Given the description of an element on the screen output the (x, y) to click on. 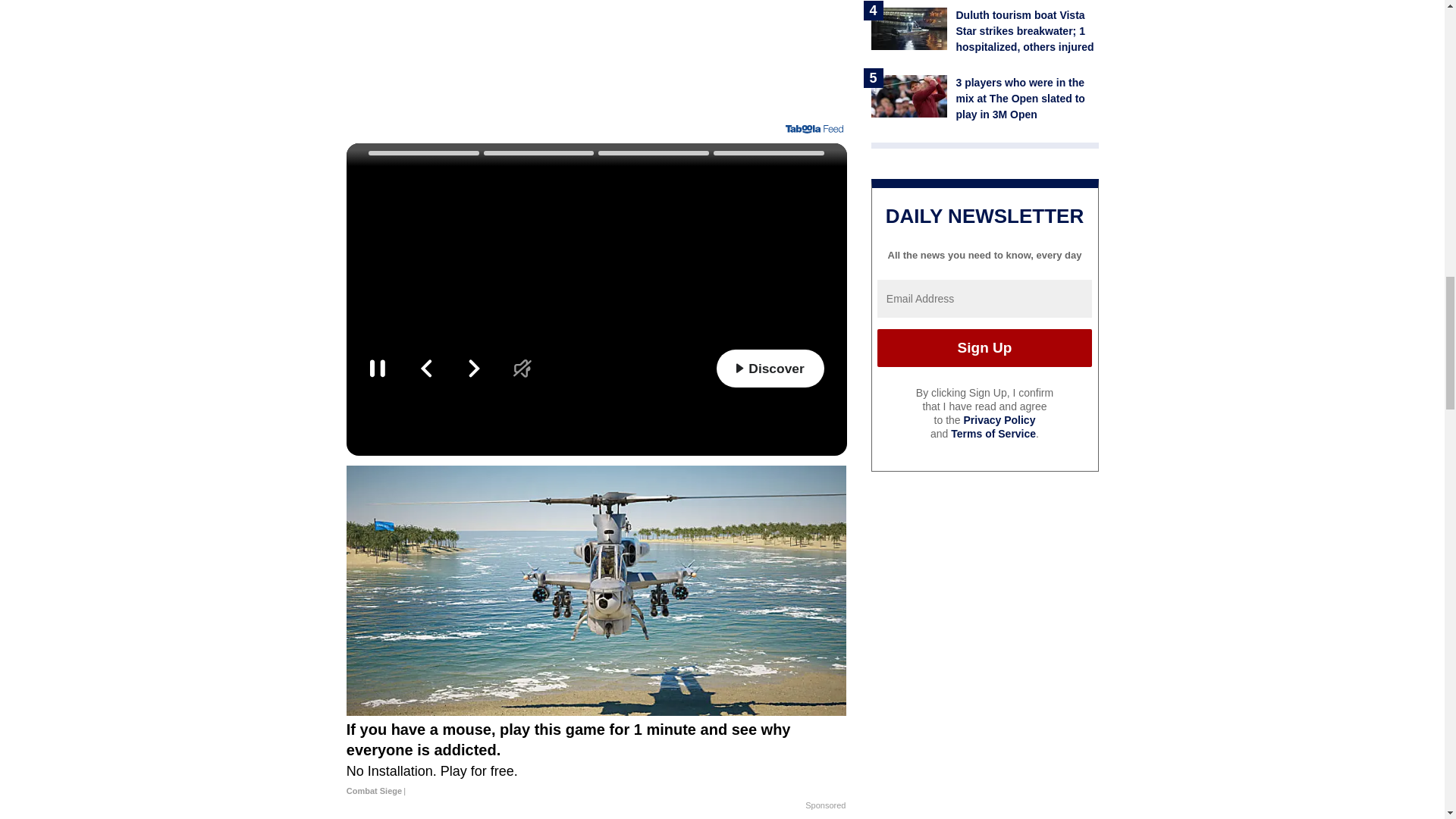
Sign Up (984, 347)
